Given the description of an element on the screen output the (x, y) to click on. 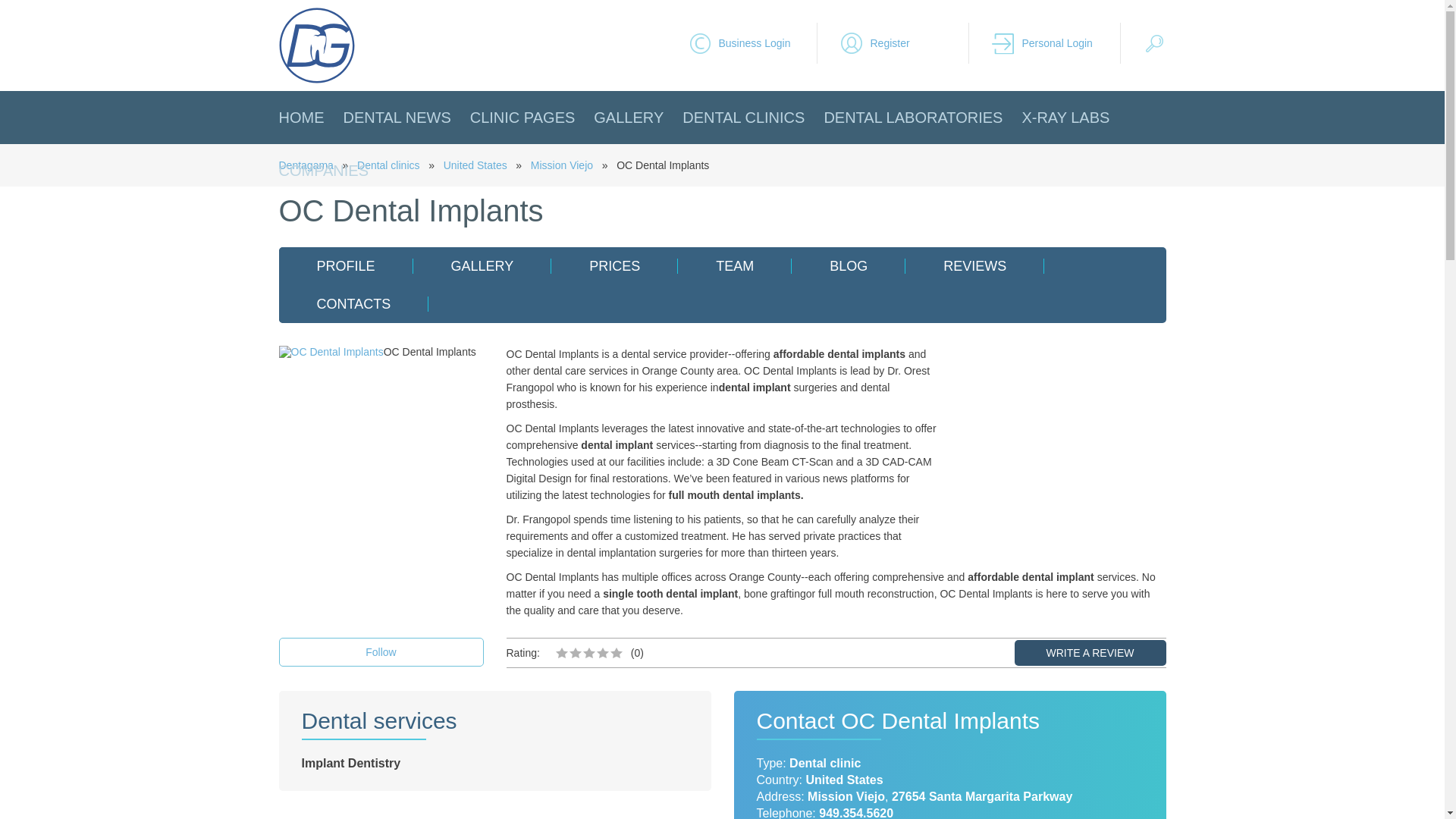
DENTAL LABORATORIES (913, 117)
DENTAL CLINICS (743, 117)
Business Login (752, 42)
CLINIC PAGES (522, 117)
Dental clinic (824, 762)
Dental clinics (387, 164)
PRICES (614, 266)
Personal Login (1056, 42)
BLOG (848, 266)
GALLERY (628, 117)
